Given the description of an element on the screen output the (x, y) to click on. 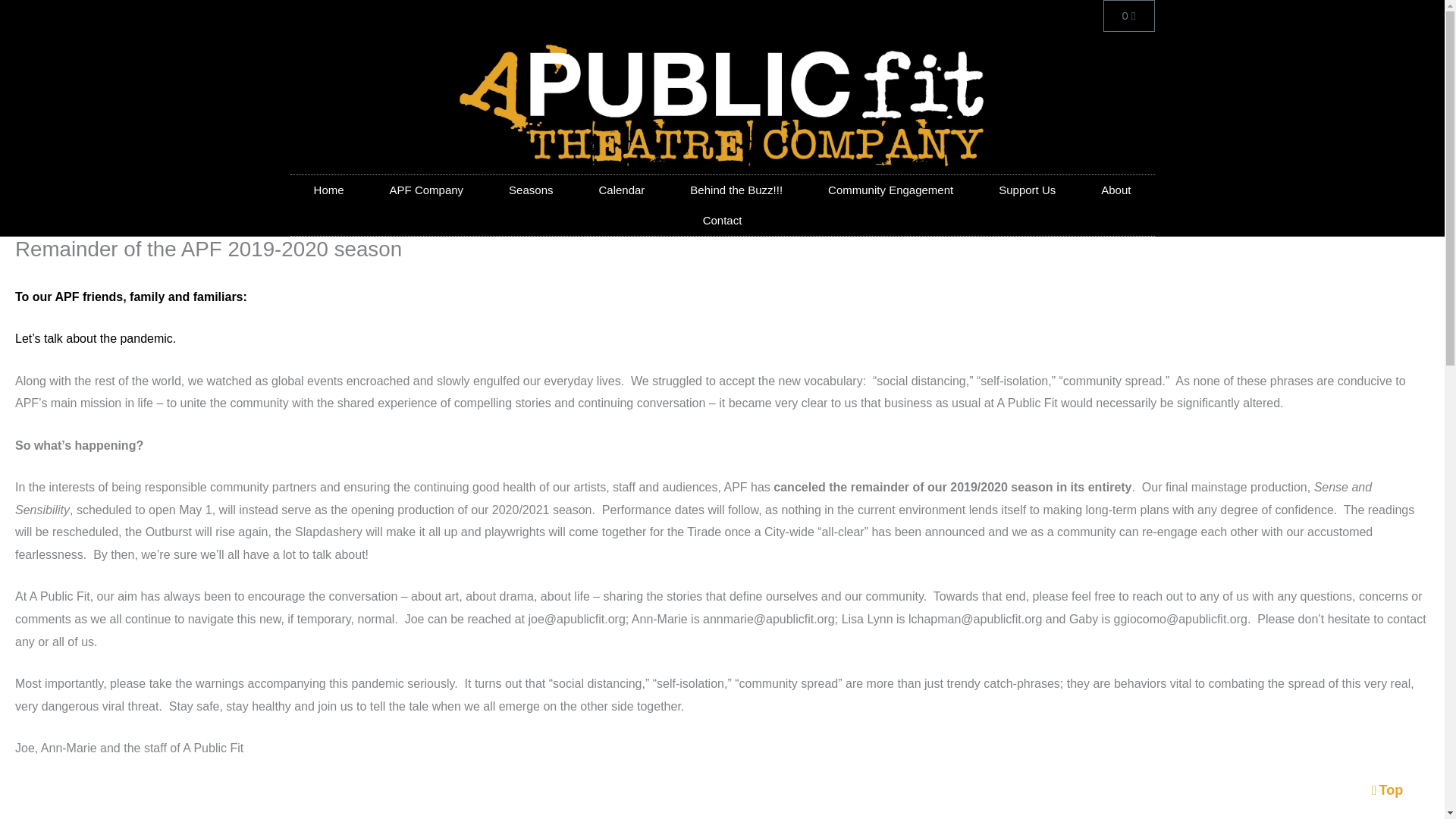
Seasons (530, 190)
Home (328, 190)
Behind the Buzz!!! (735, 190)
APF Company (1128, 15)
Support Us (426, 190)
Calendar (1026, 190)
Contact (620, 190)
Community Engagement (722, 220)
About (890, 190)
